Given the description of an element on the screen output the (x, y) to click on. 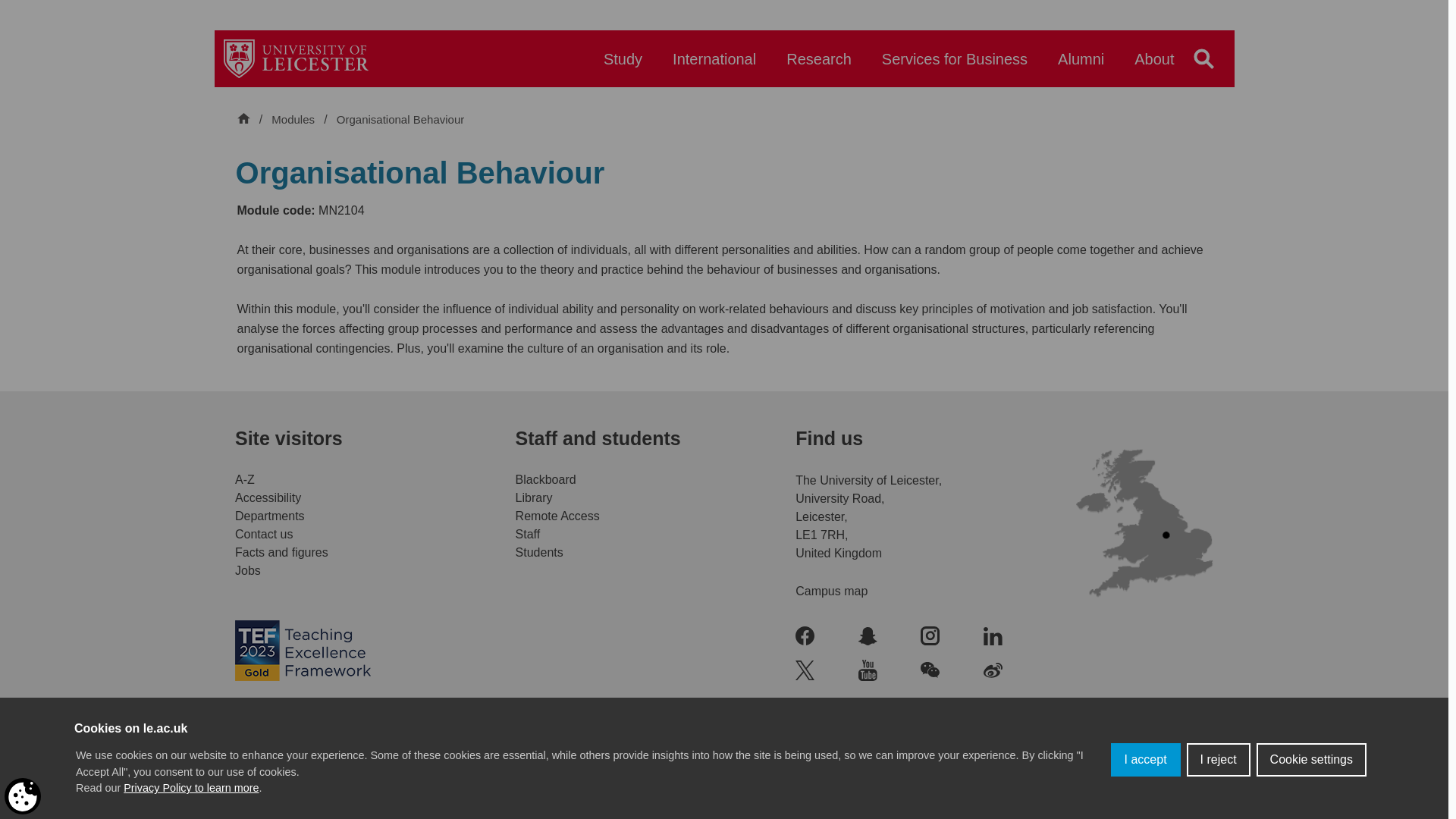
Cookie settings (1311, 762)
I reject (1218, 766)
I accept (1145, 774)
Modules (293, 119)
Study (623, 65)
Privacy Policy to learn more (191, 811)
Organisational Behaviour (400, 119)
Return to homepage (295, 58)
